Given the description of an element on the screen output the (x, y) to click on. 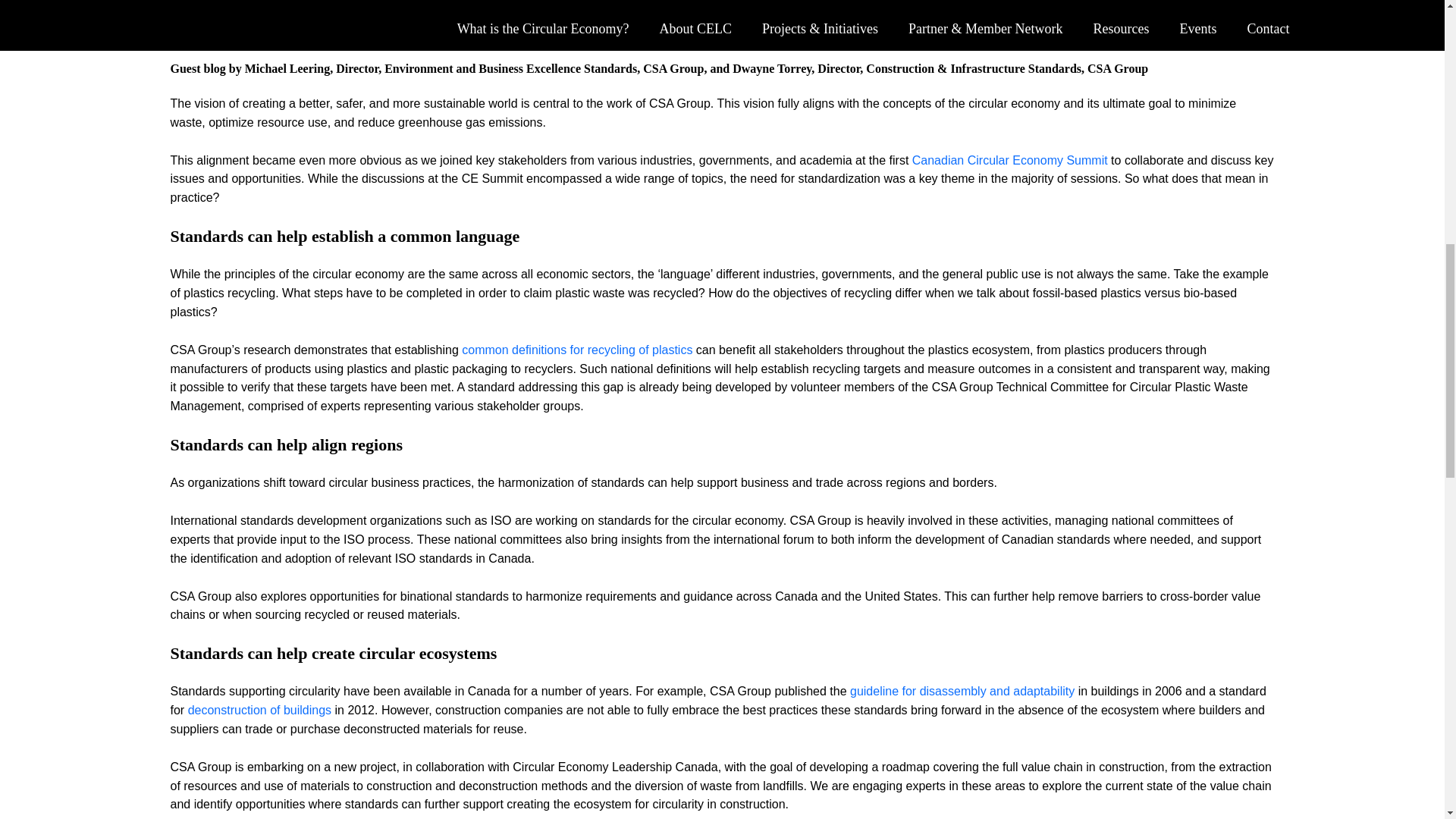
common definitions for recycling of plastics (577, 349)
Canadian Circular Economy Summit (1010, 160)
deconstruction of buildings (259, 709)
guideline for disassembly and adaptability (962, 690)
